Given the description of an element on the screen output the (x, y) to click on. 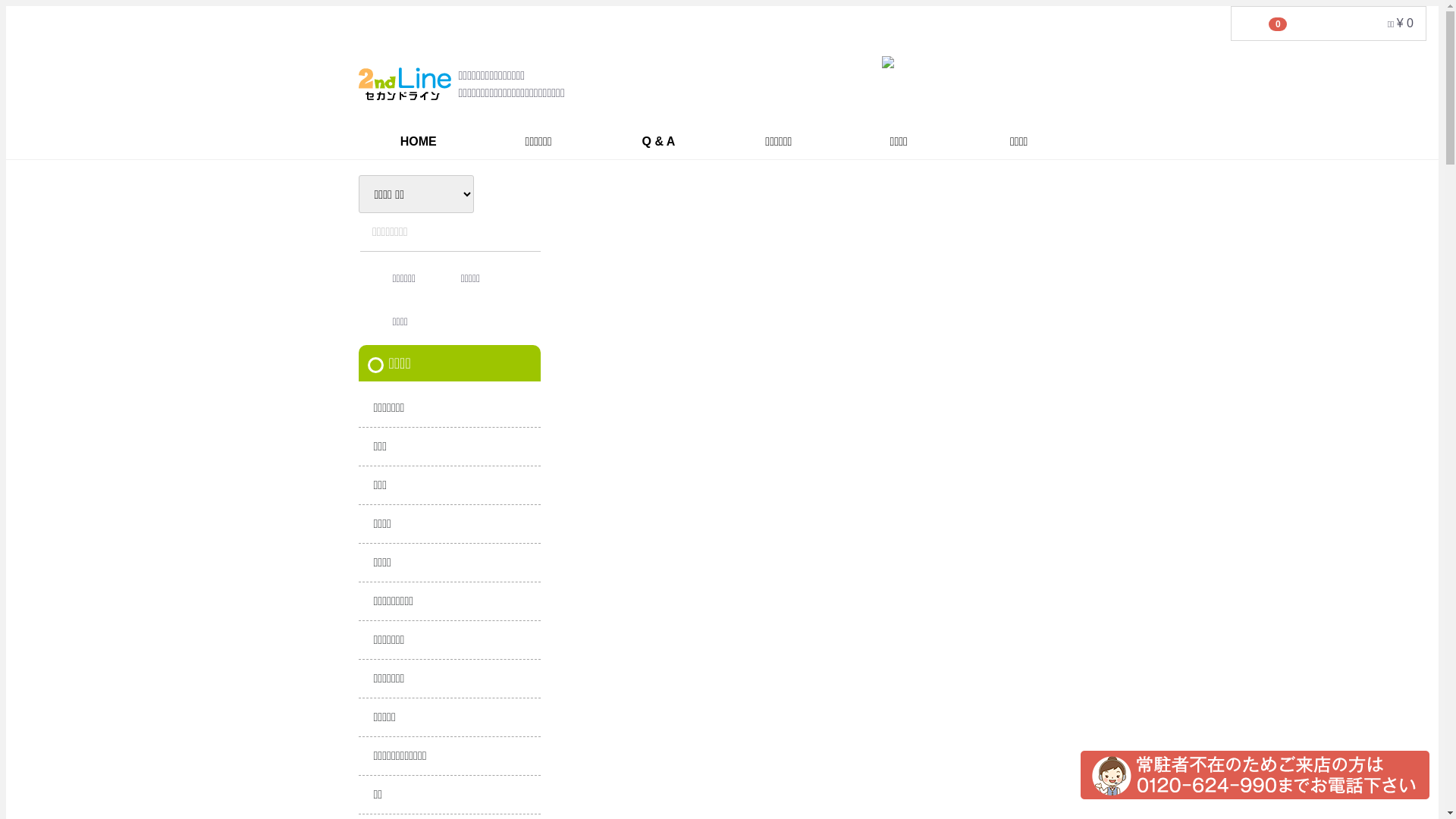
HOME Element type: text (417, 141)
0 Element type: text (1250, 23)
Q & A Element type: text (658, 141)
